Given the description of an element on the screen output the (x, y) to click on. 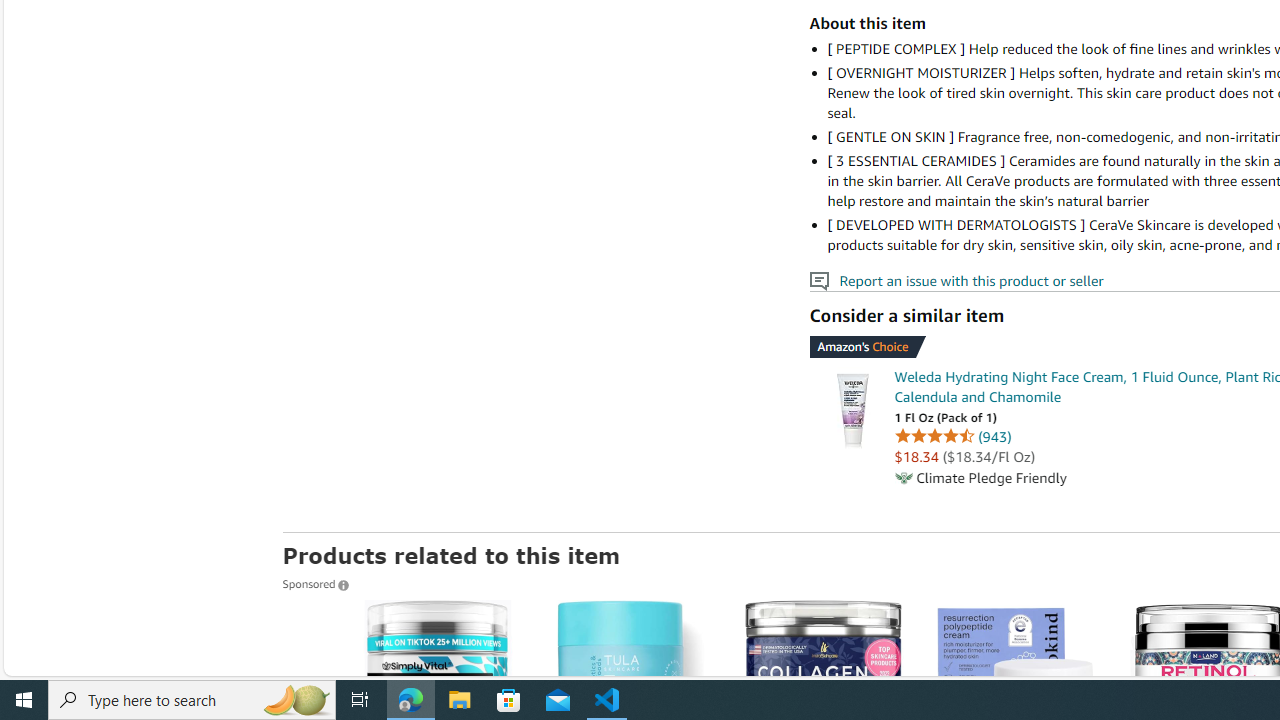
Climate Pledge Friendly (902, 478)
Sponsored  (315, 583)
Report an issue with this product or seller (818, 281)
943 ratings (994, 436)
